Given the description of an element on the screen output the (x, y) to click on. 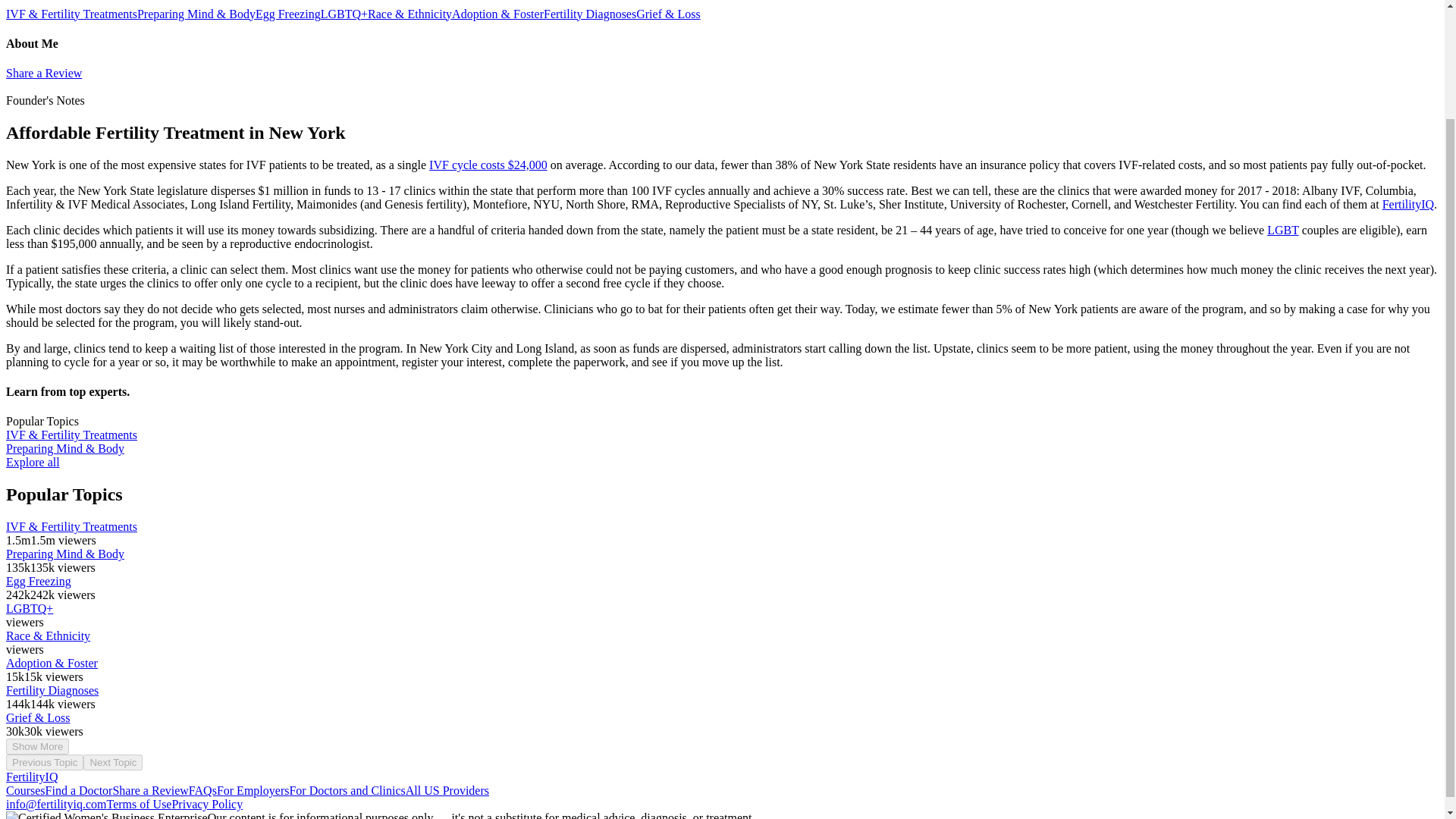
Next Topic (112, 762)
LGBT (1282, 229)
Show More (36, 746)
Explore all (32, 461)
Previous Topic (43, 762)
Egg Freezing (288, 13)
Share a Review (43, 72)
Fertility Diagnoses (589, 13)
